Given the description of an element on the screen output the (x, y) to click on. 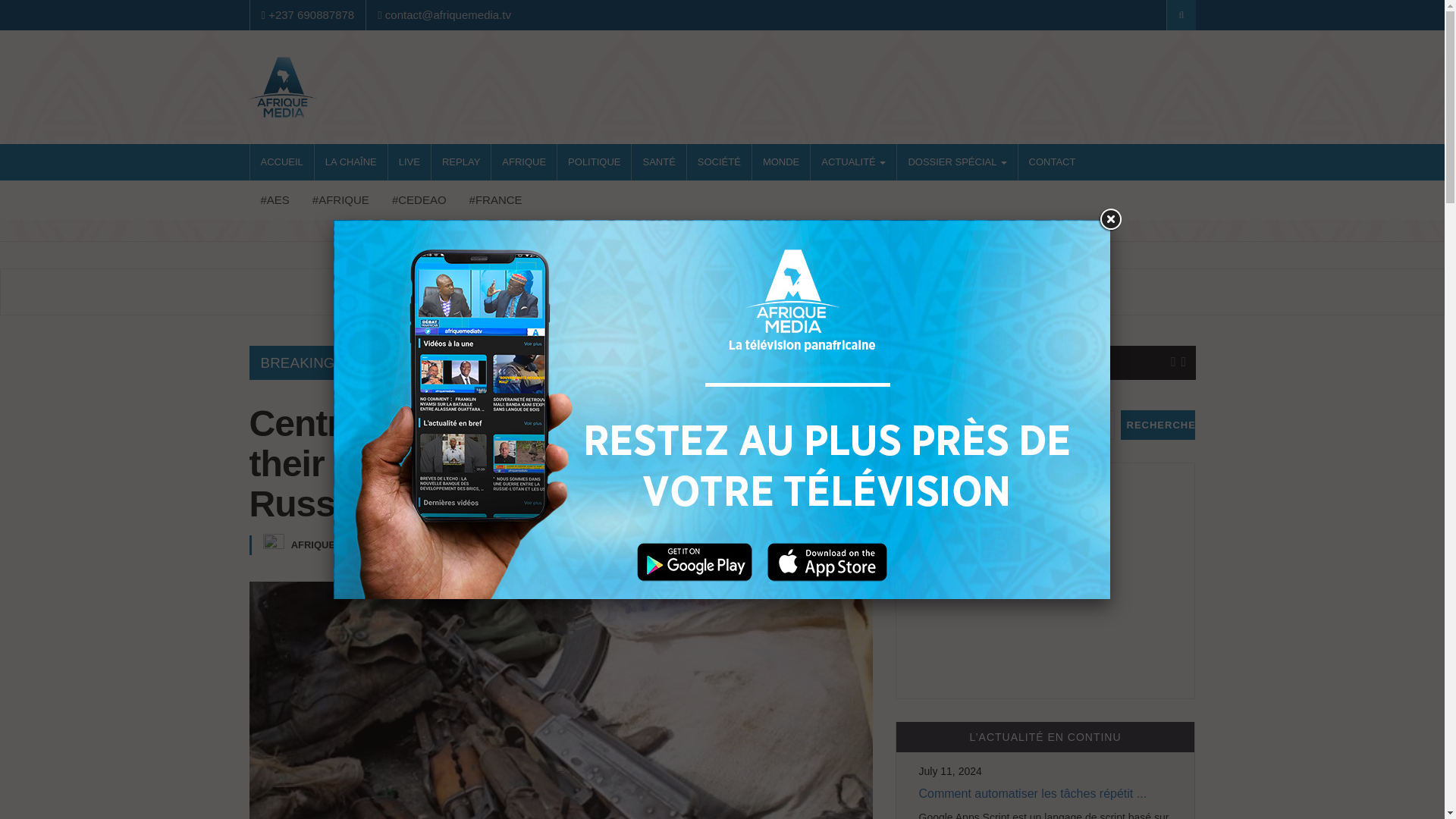
CONTACT (1051, 162)
France (496, 199)
POLITIQUE (593, 162)
AES (273, 199)
AFRIQUE (524, 162)
MONDE (780, 162)
Rechercher (1158, 424)
Rechercher (1158, 424)
CEDEAO (419, 199)
REPLAY (460, 162)
Afrique (340, 199)
ACCUEIL (282, 162)
LIVE (409, 162)
